Given the description of an element on the screen output the (x, y) to click on. 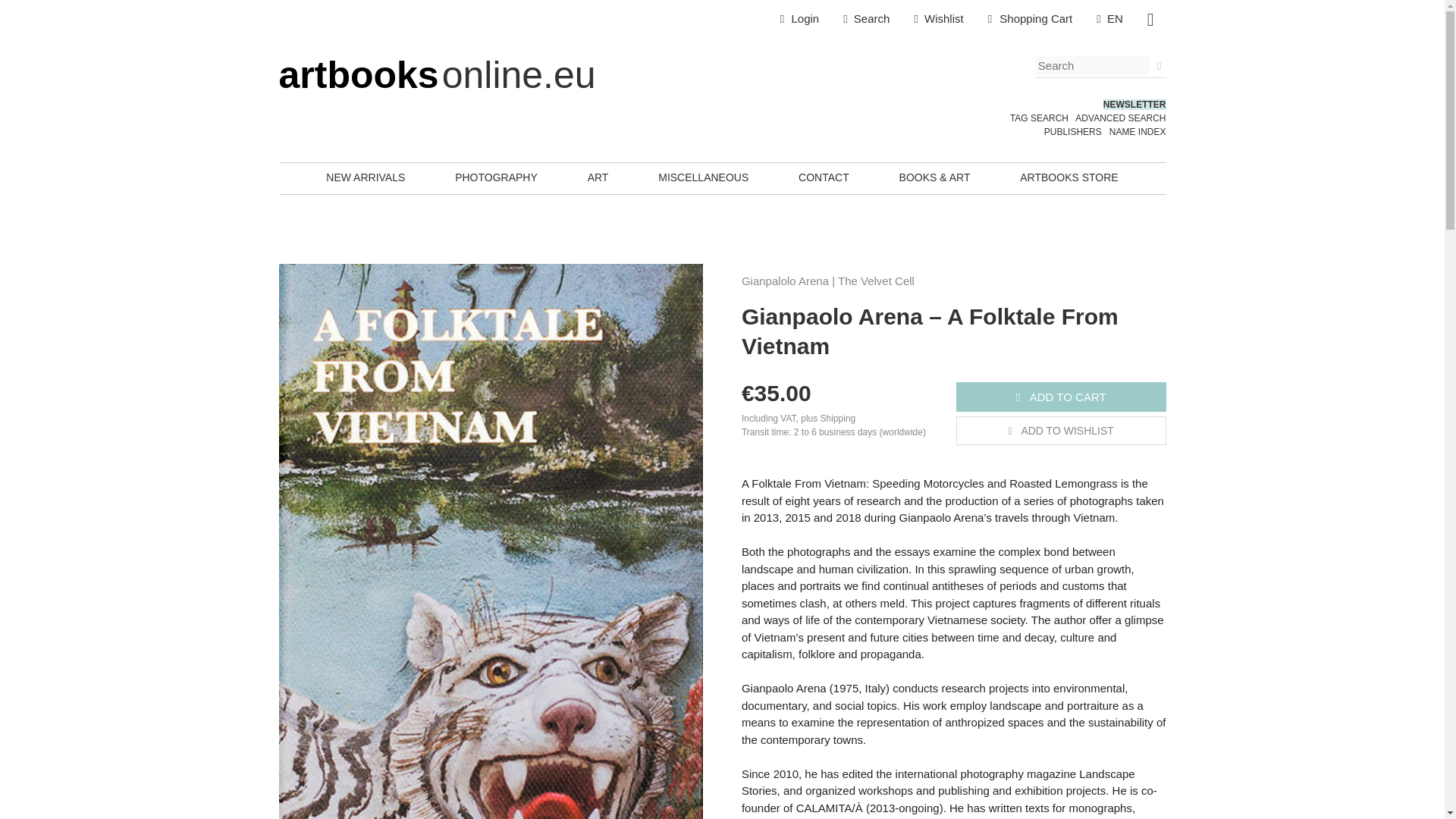
NEW ARRIVALS (365, 177)
NEWSLETTER (1134, 104)
PHOTOGRAPHY (496, 177)
ADVANCED SEARCH (1120, 118)
TAG SEARCH (1039, 118)
EN (1109, 19)
Search (866, 19)
PUBLISHERS (1072, 131)
artbooksonline.eu (437, 75)
Shopping Cart (1029, 19)
NAME INDEX (1137, 131)
Login (799, 19)
Wishlist (938, 19)
